Given the description of an element on the screen output the (x, y) to click on. 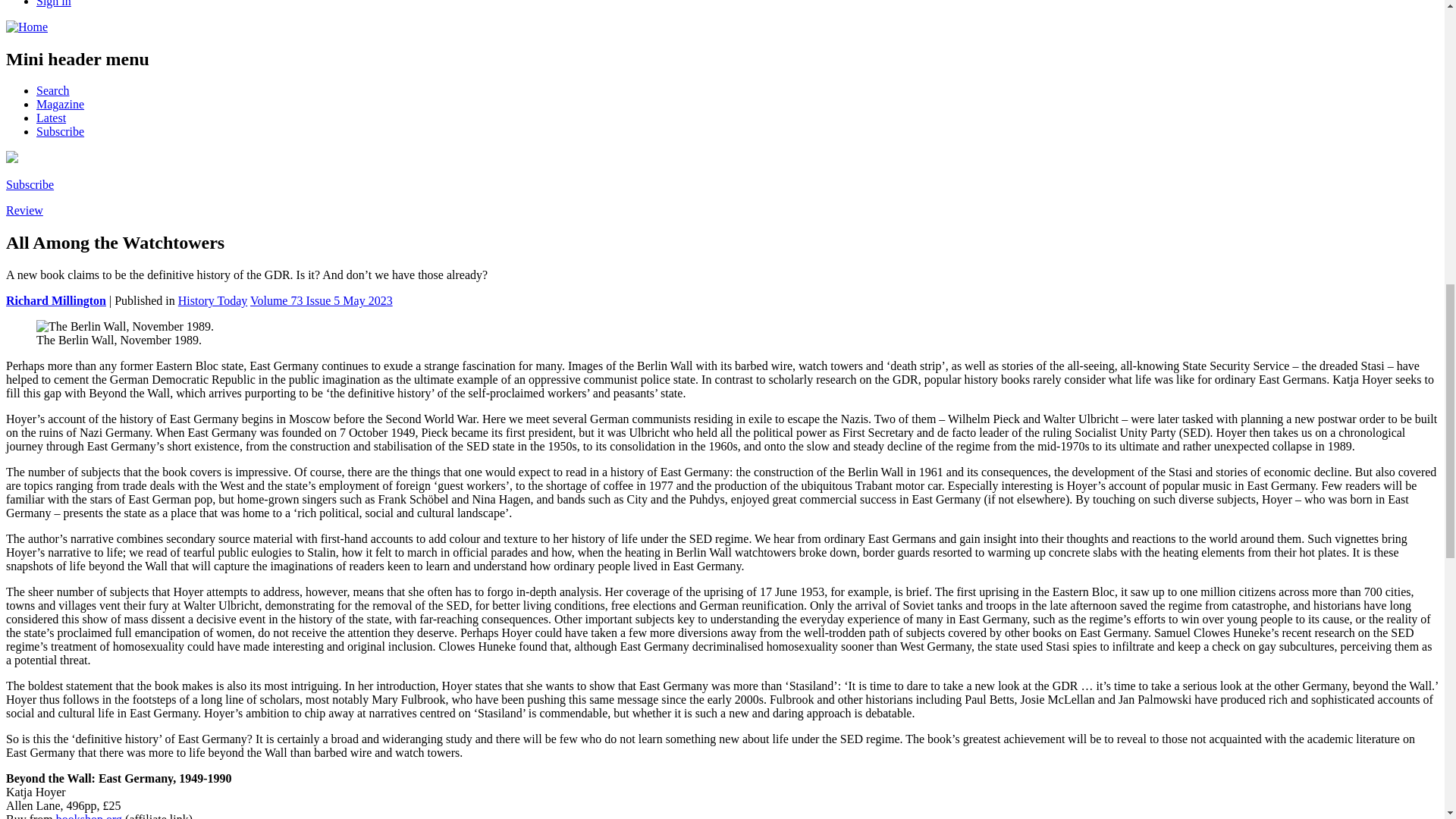
Subscribe (60, 131)
Richard Millington (55, 300)
Magazine (60, 103)
History Today (212, 300)
Volume 73 Issue 5 May 2023 (321, 300)
Review (24, 210)
bookshop.org (89, 816)
Sign in (53, 3)
Search (52, 90)
Latest (50, 117)
Subscribe (29, 184)
